Given the description of an element on the screen output the (x, y) to click on. 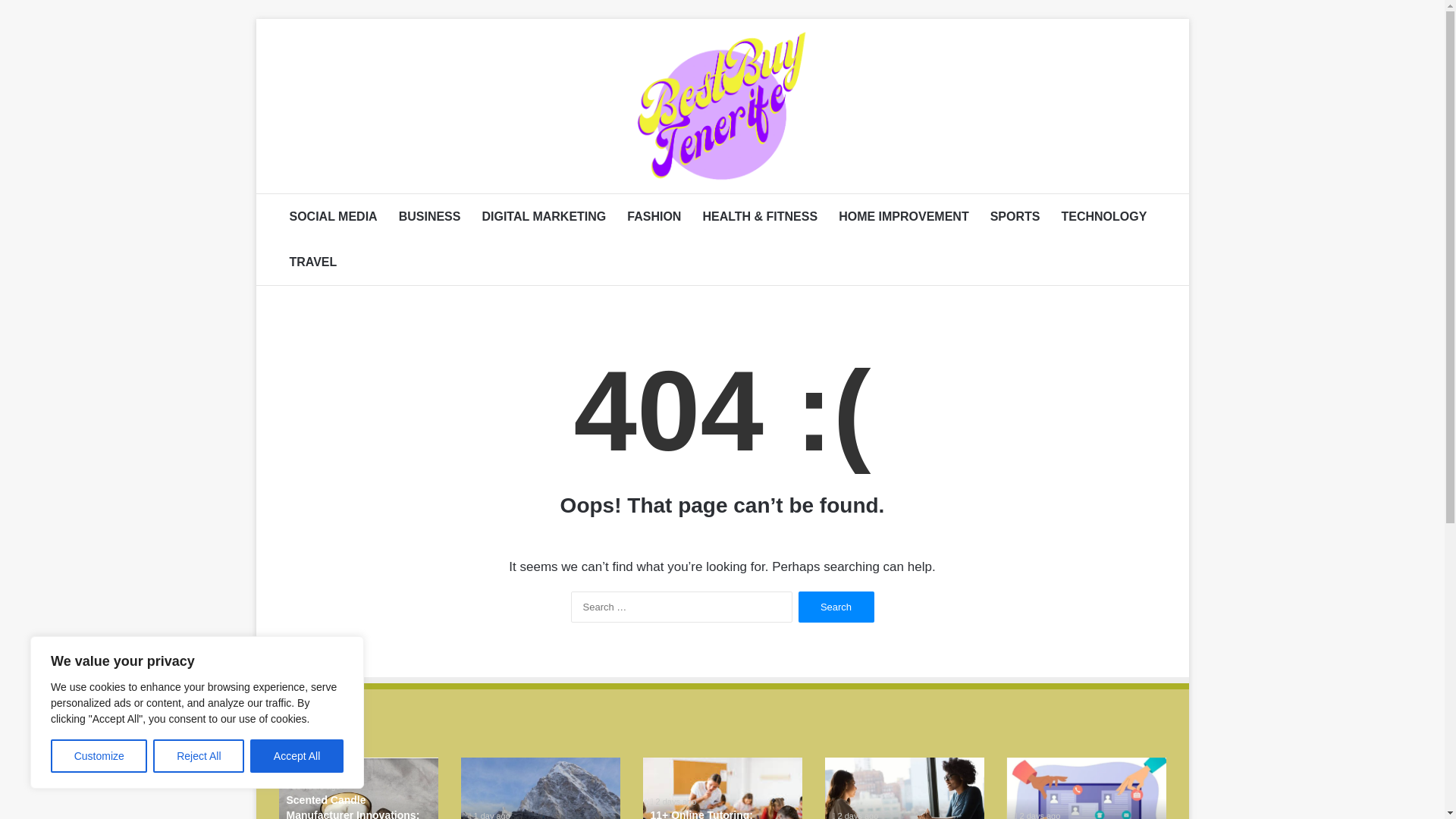
TECHNOLOGY (1103, 216)
Search (835, 606)
Search (835, 606)
SOCIAL MEDIA (333, 216)
FASHION (653, 216)
HOME IMPROVEMENT (903, 216)
bestbuytenerife (721, 105)
DIGITAL MARKETING (542, 216)
SPORTS (1015, 216)
Tips to Choose the Top Recruitment Agencies in the UAE (1086, 788)
